Given the description of an element on the screen output the (x, y) to click on. 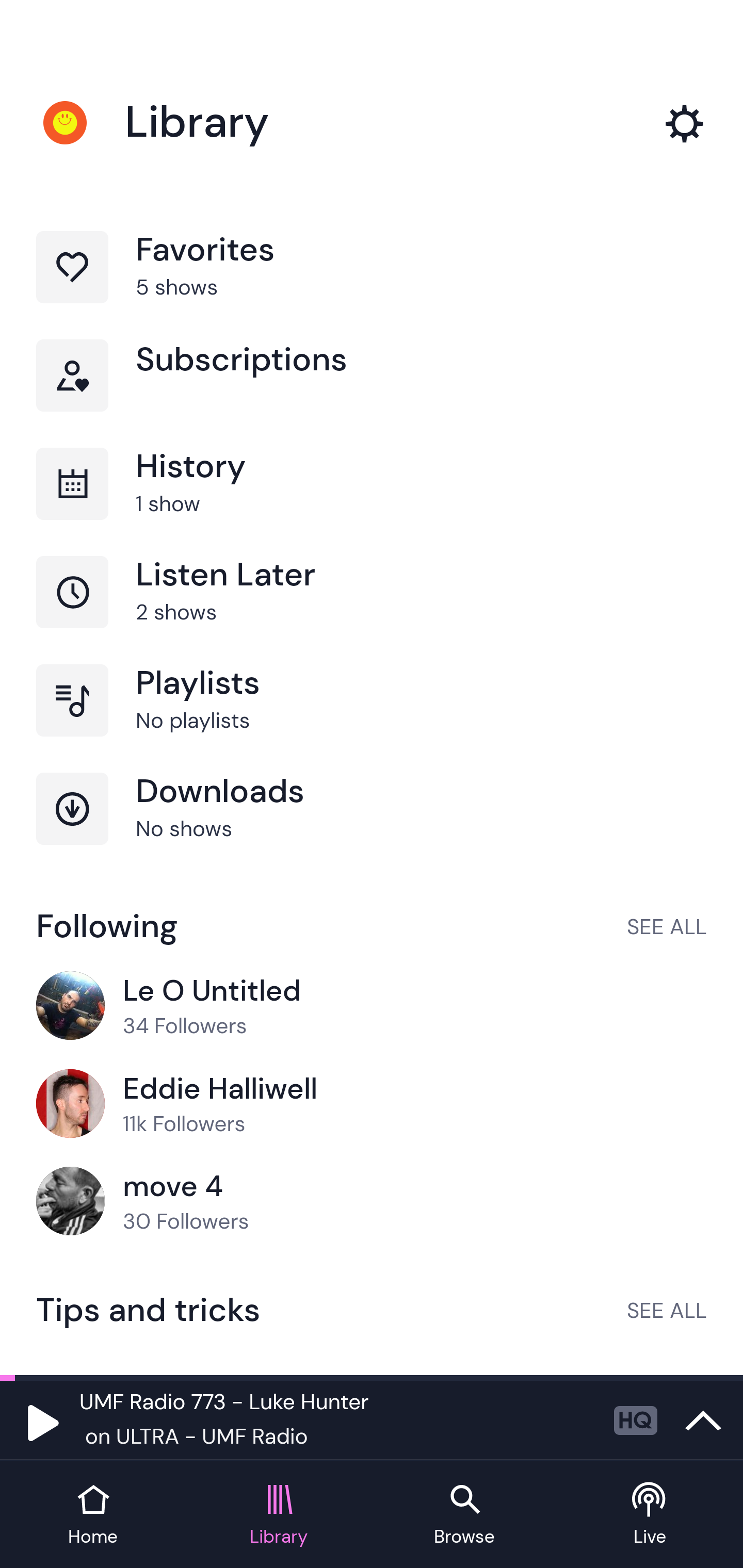
Favorites, 5 shows Favorites 5 shows (371, 284)
Subscriptions (371, 393)
History, 1 show History 1 show (371, 502)
Listen Later, 2 shows Listen Later 2 shows (371, 610)
Playlists, No playlists Playlists No playlists (371, 718)
Downloads, No shows Downloads No shows (371, 827)
SEE ALL (666, 926)
move 4, 30 Followers move 4 30 Followers (371, 1201)
SEE ALL (666, 1309)
Home tab Home (92, 1515)
Library tab Library (278, 1515)
Browse tab Browse (464, 1515)
Live tab Live (650, 1515)
